Given the description of an element on the screen output the (x, y) to click on. 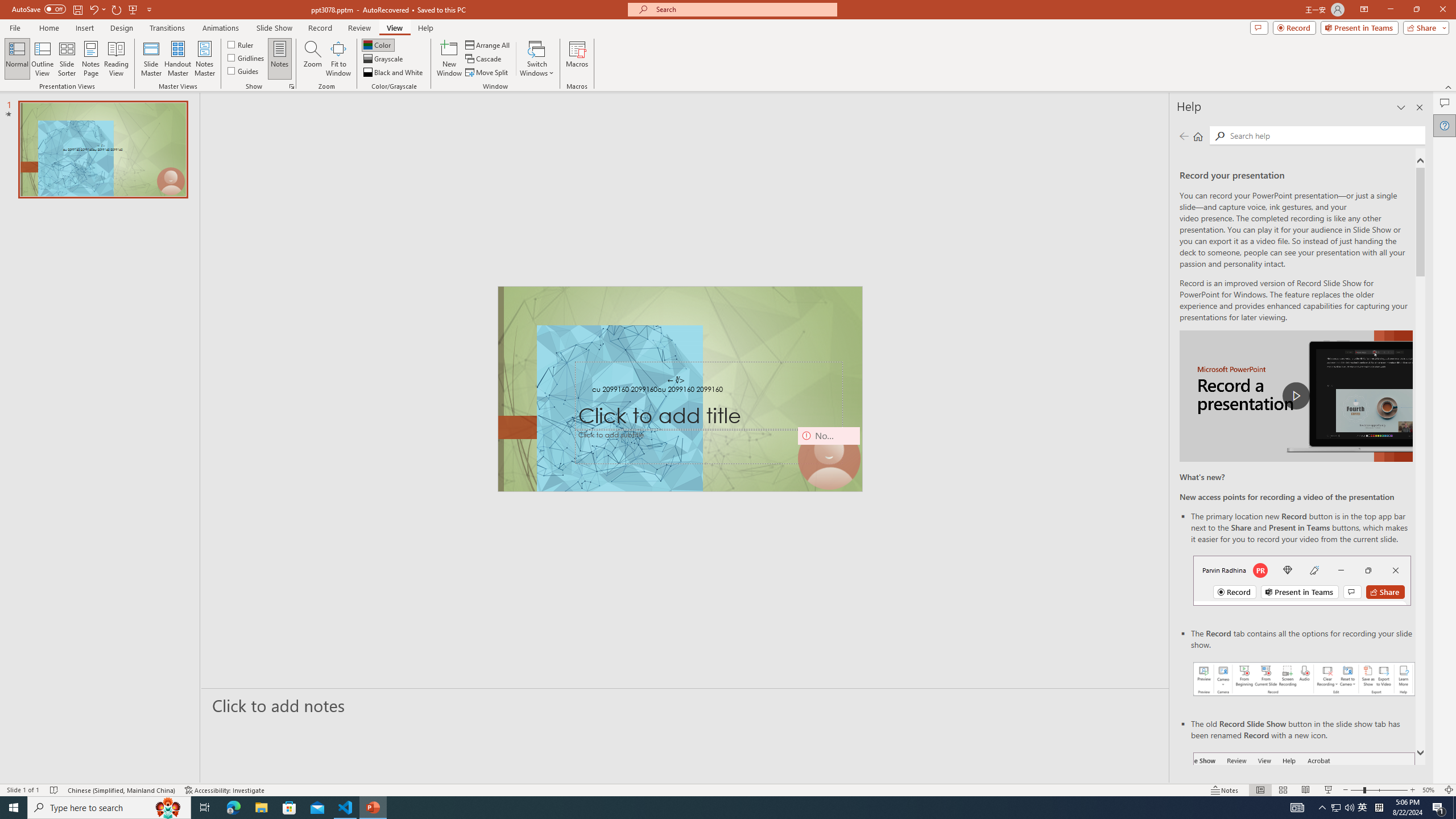
Handout Master (177, 58)
Notes (279, 58)
Zoom 50% (1430, 790)
TextBox 61 (679, 389)
Color (377, 44)
Notes Page (90, 58)
